Given the description of an element on the screen output the (x, y) to click on. 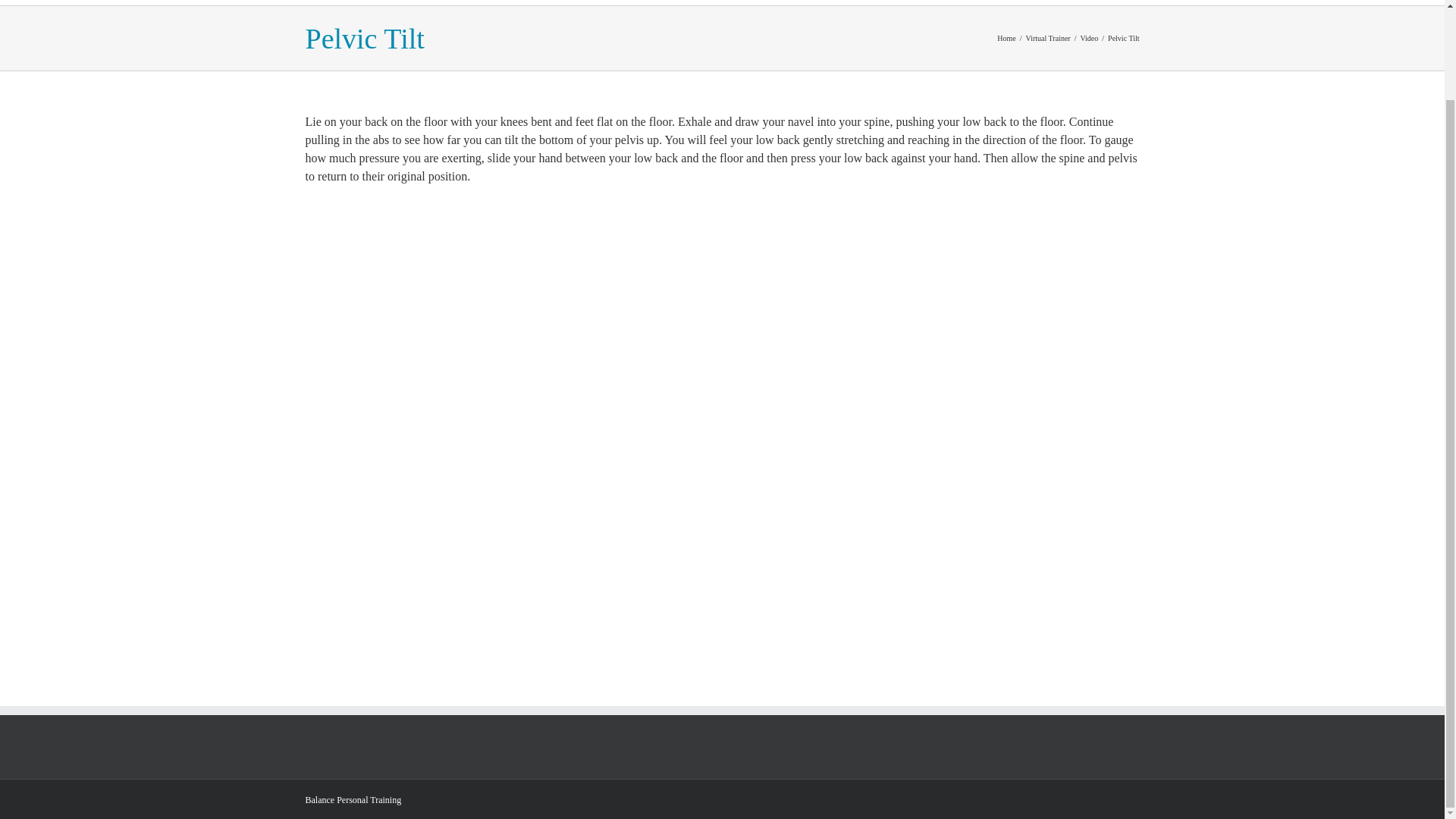
Virtual Trainer (1048, 38)
Home (1005, 38)
Video (1088, 38)
